Given the description of an element on the screen output the (x, y) to click on. 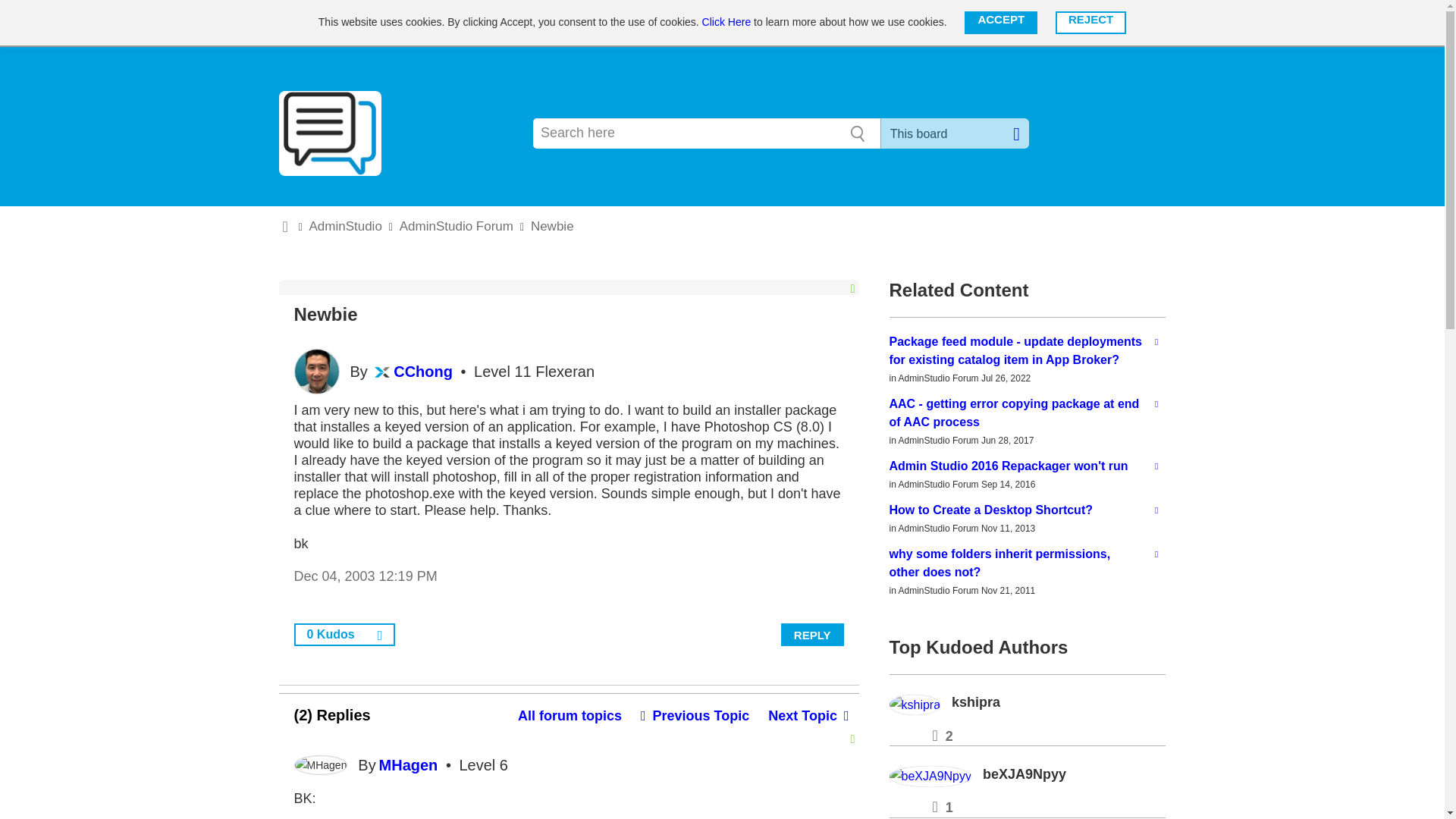
Find My Product (520, 22)
AdminStudio Forum (569, 715)
ACCEPT (999, 22)
Level 11 Flexeran (382, 372)
Flexera Community (367, 22)
More (941, 22)
REJECT (1090, 22)
Product Access (1017, 22)
Learn (599, 22)
Support (714, 22)
Click Here (726, 21)
Click here to give kudos to this post. (380, 634)
The total number of kudos this post has received. (330, 635)
Ideas (653, 22)
CChong (316, 370)
